Given the description of an element on the screen output the (x, y) to click on. 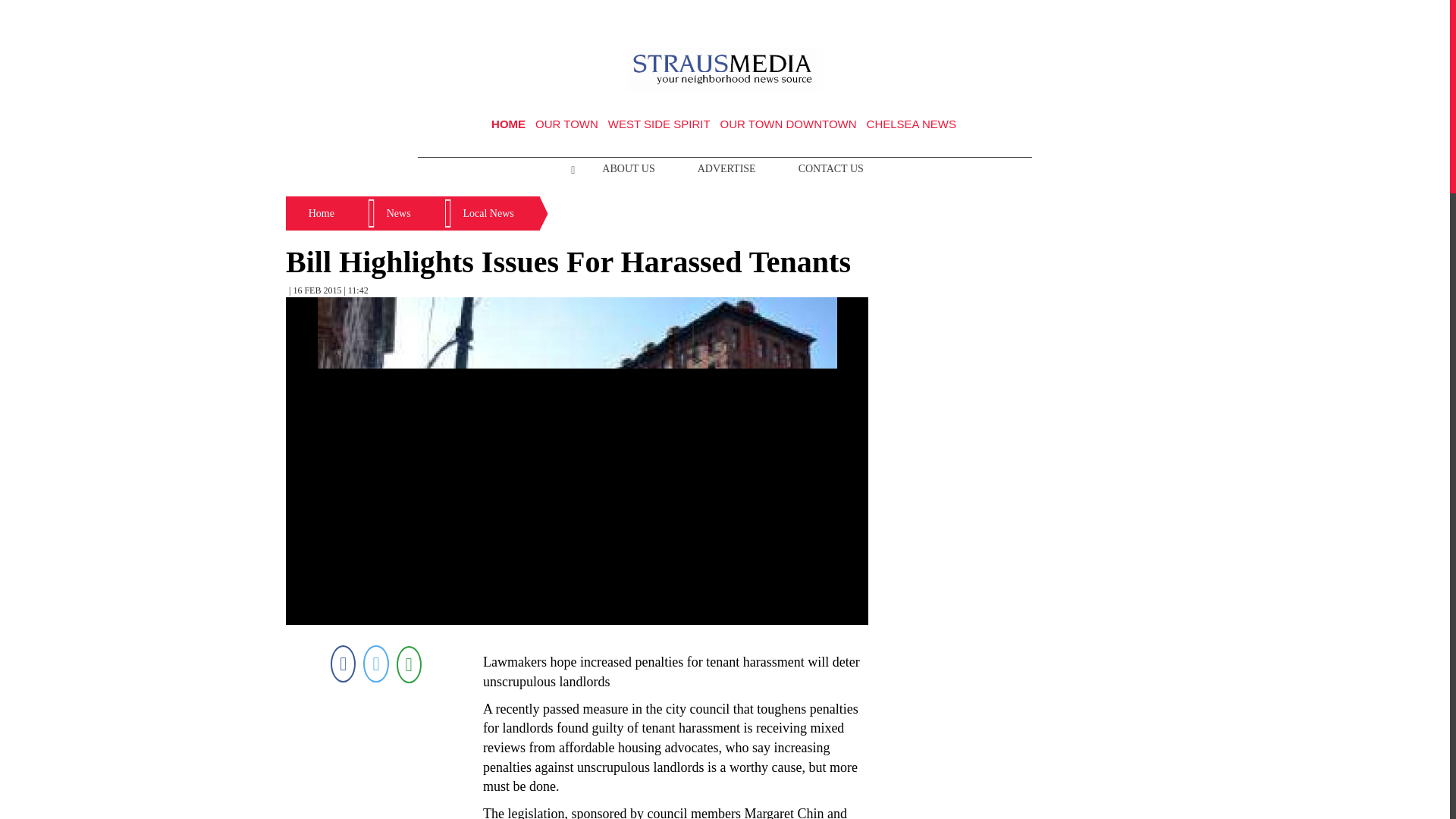
Home (321, 213)
ADVERTISE (726, 168)
CHELSEA NEWS (911, 123)
ABOUT US (627, 168)
WEST SIDE SPIRIT (659, 123)
OUR TOWN DOWNTOWN (788, 123)
CONTACT US (831, 168)
OUR TOWN (566, 123)
HOME (508, 123)
